Given the description of an element on the screen output the (x, y) to click on. 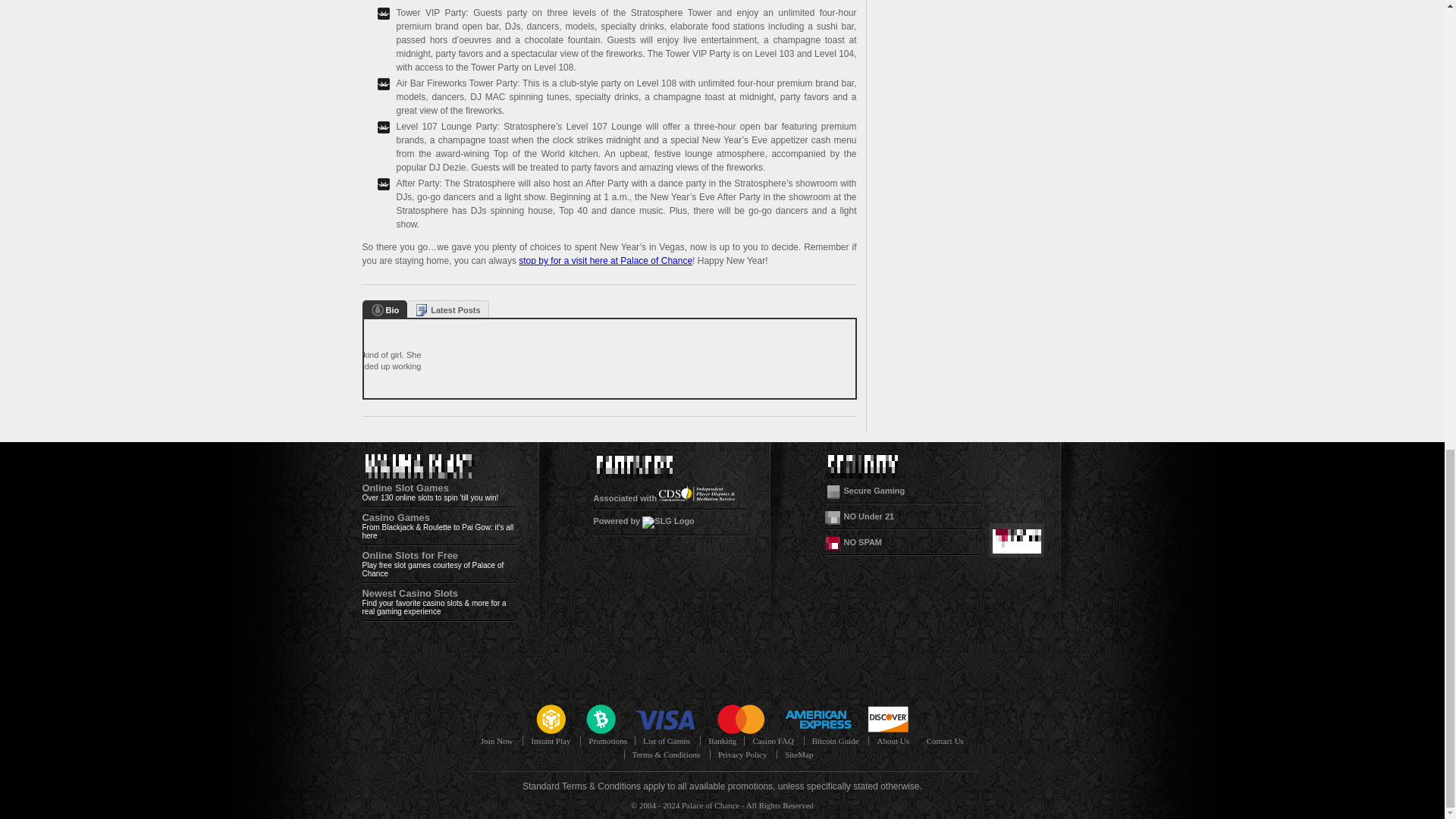
stop by for a visit here at Palace of Chance (605, 260)
Instant Play (550, 740)
List of Games (665, 740)
Associated with (663, 497)
Over 130 online slots (397, 497)
it's all here (437, 531)
Bio (383, 309)
Casino FAQ (773, 740)
courtesy of Palace of Chance (432, 569)
Join Now (496, 740)
